Given the description of an element on the screen output the (x, y) to click on. 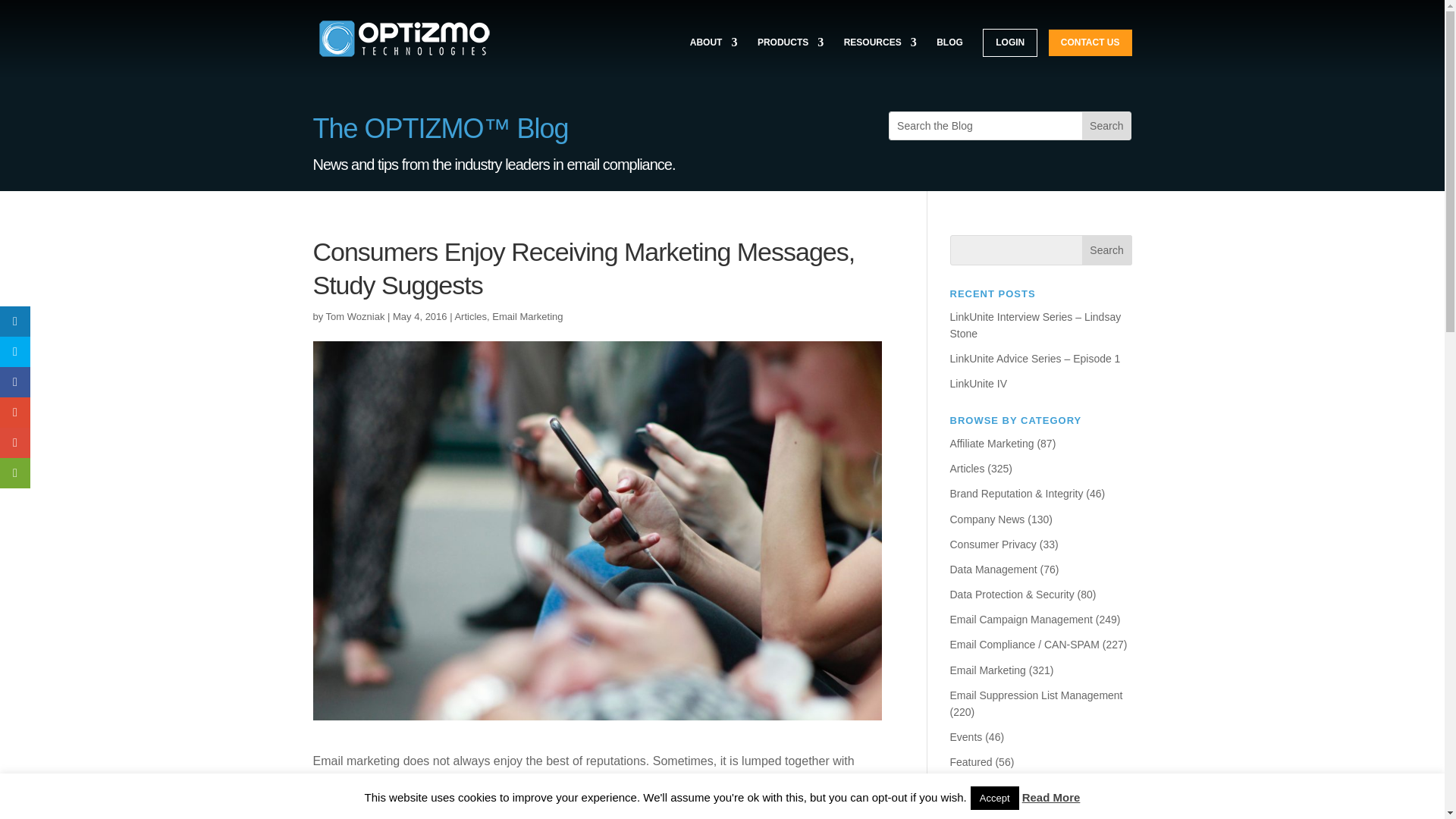
ABOUT (714, 56)
LOGIN (1009, 42)
Search (1106, 125)
RESOURCES (880, 56)
Search (1106, 250)
Search (1106, 125)
CONTACT US (1090, 42)
PRODUCTS (790, 56)
Posts by Tom Wozniak (355, 316)
